Given the description of an element on the screen output the (x, y) to click on. 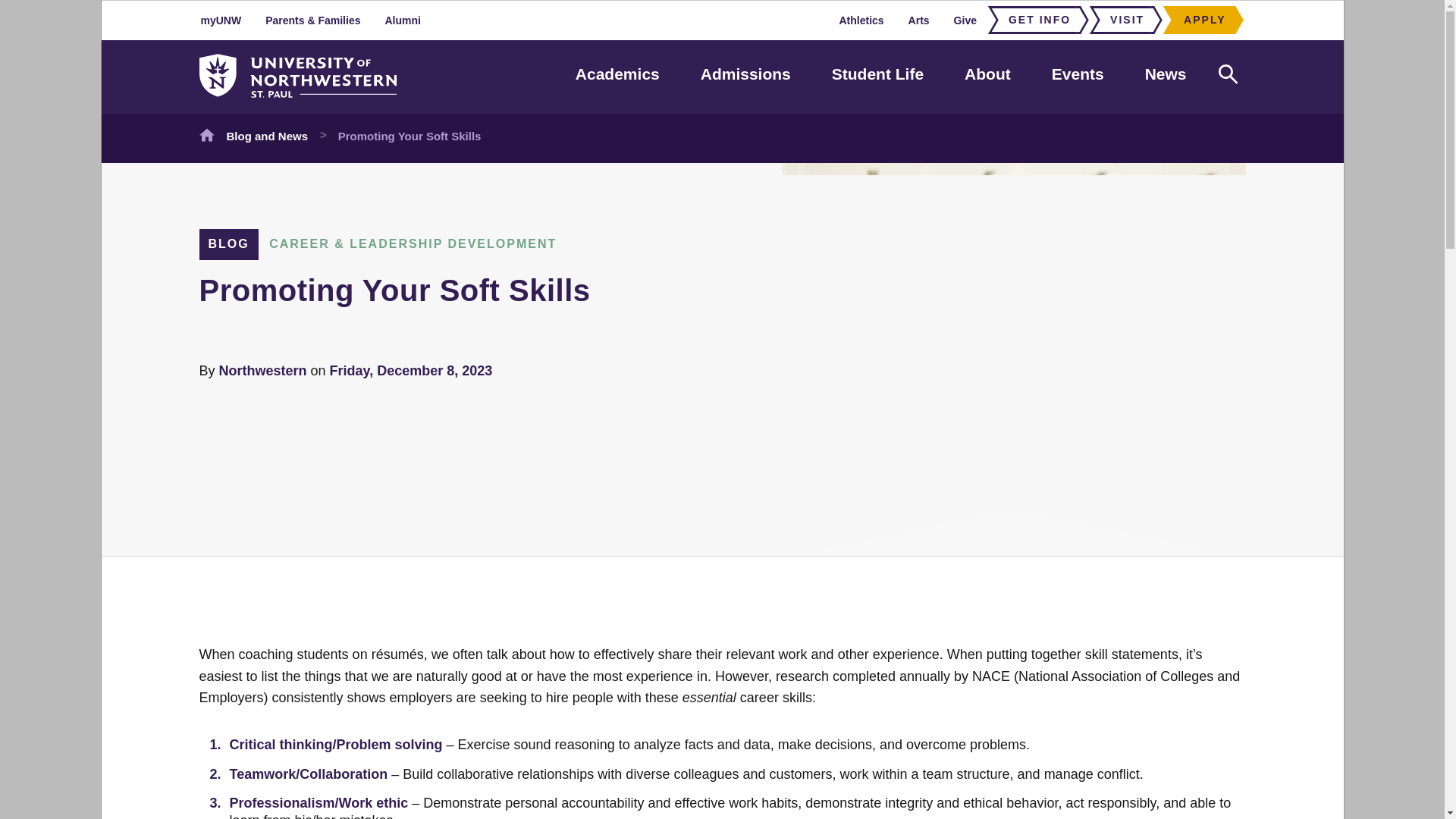
Alumni (402, 20)
Arts (919, 20)
Give (964, 20)
APPLY (1199, 20)
Athletics (860, 20)
myUNW (220, 20)
Academics (617, 73)
Admissions (745, 73)
VISIT (1121, 20)
Logo Header (297, 75)
GET INFO (1034, 20)
